Given the description of an element on the screen output the (x, y) to click on. 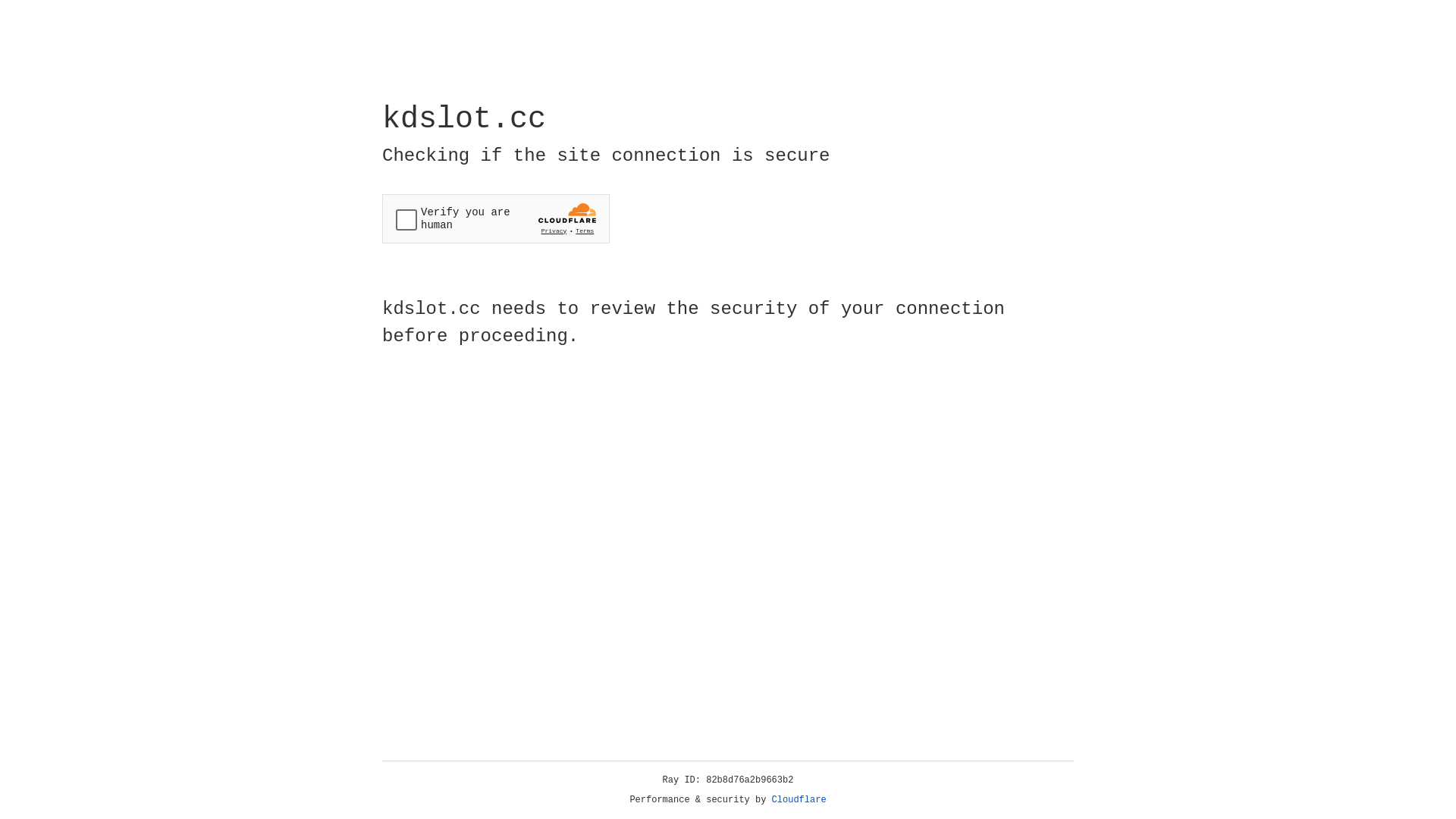
Widget containing a Cloudflare security challenge Element type: hover (495, 218)
Cloudflare Element type: text (798, 799)
